Given the description of an element on the screen output the (x, y) to click on. 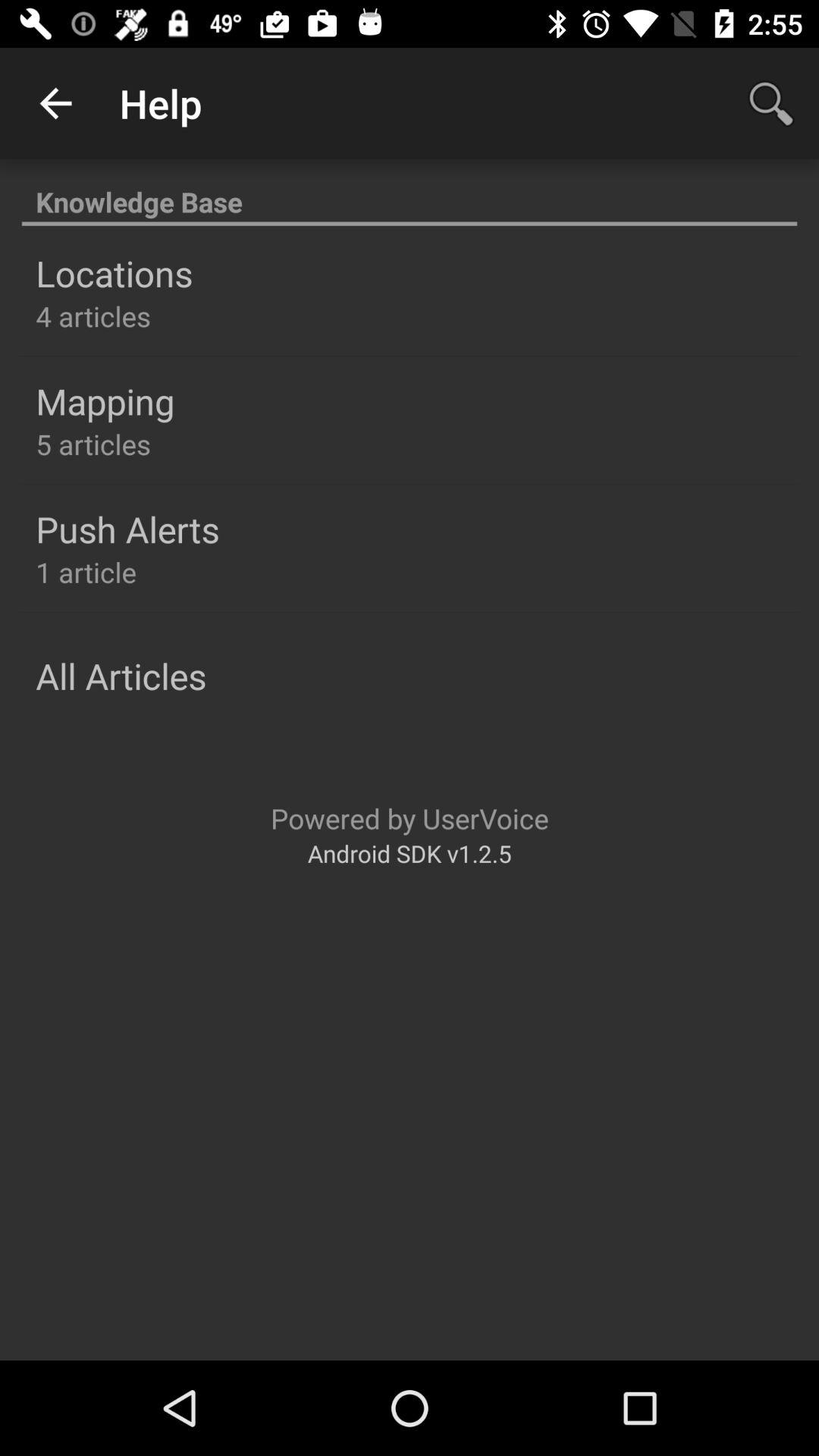
press the icon below the all articles item (409, 818)
